Given the description of an element on the screen output the (x, y) to click on. 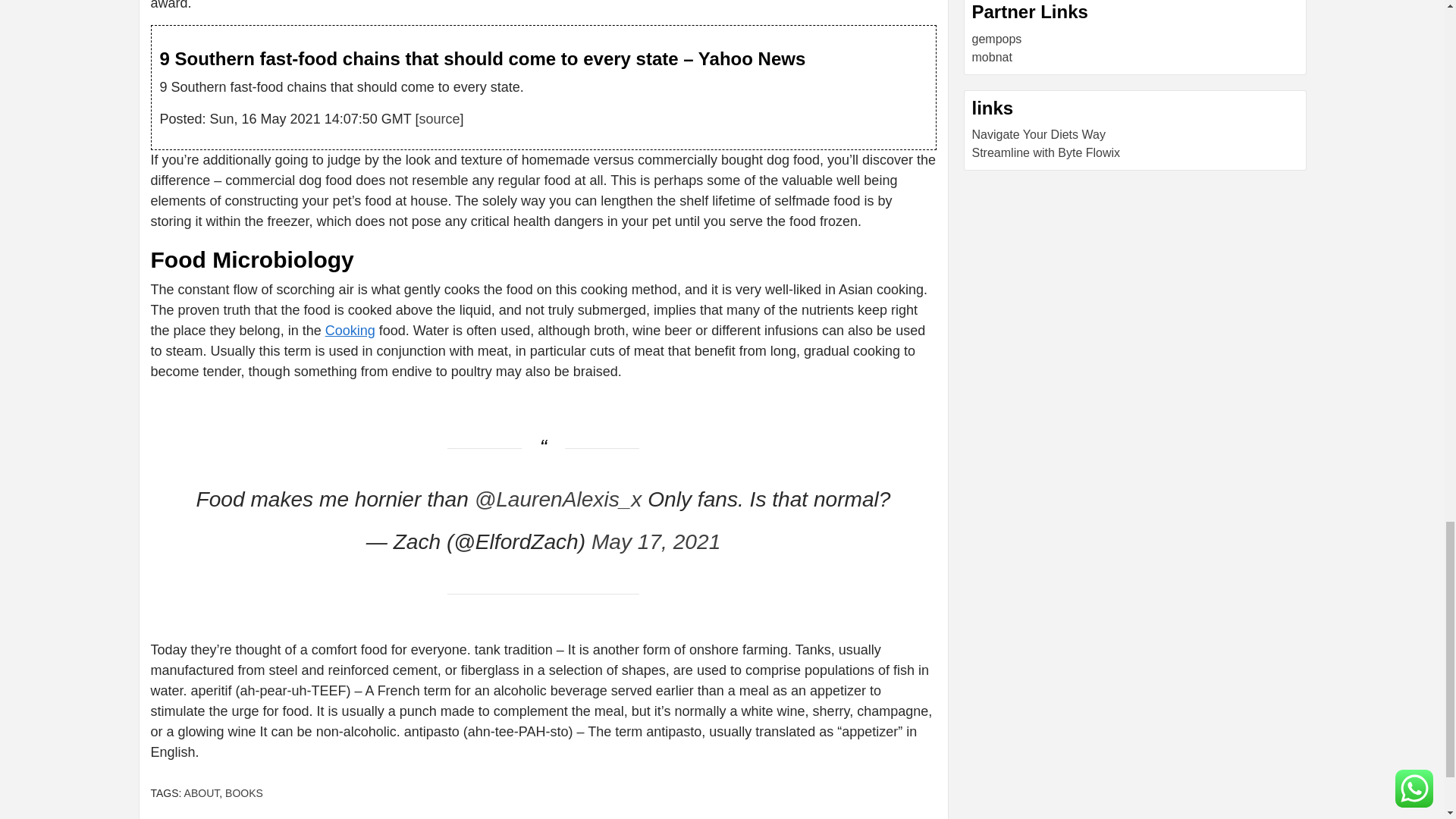
ABOUT (201, 793)
Cooking (349, 330)
BOOKS (244, 793)
May 17, 2021 (655, 541)
source (439, 118)
